Given the description of an element on the screen output the (x, y) to click on. 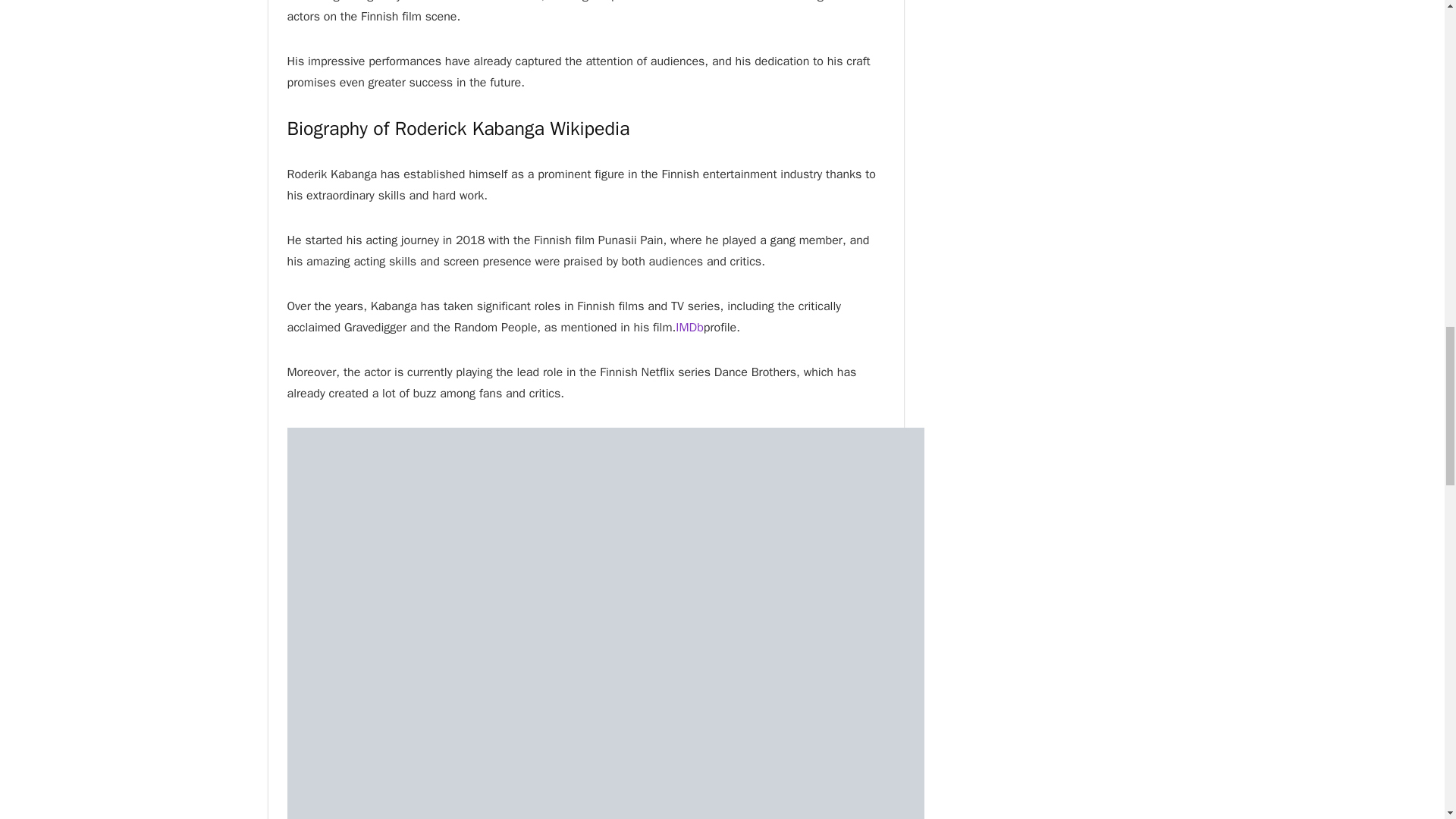
IMDb (689, 327)
